Given the description of an element on the screen output the (x, y) to click on. 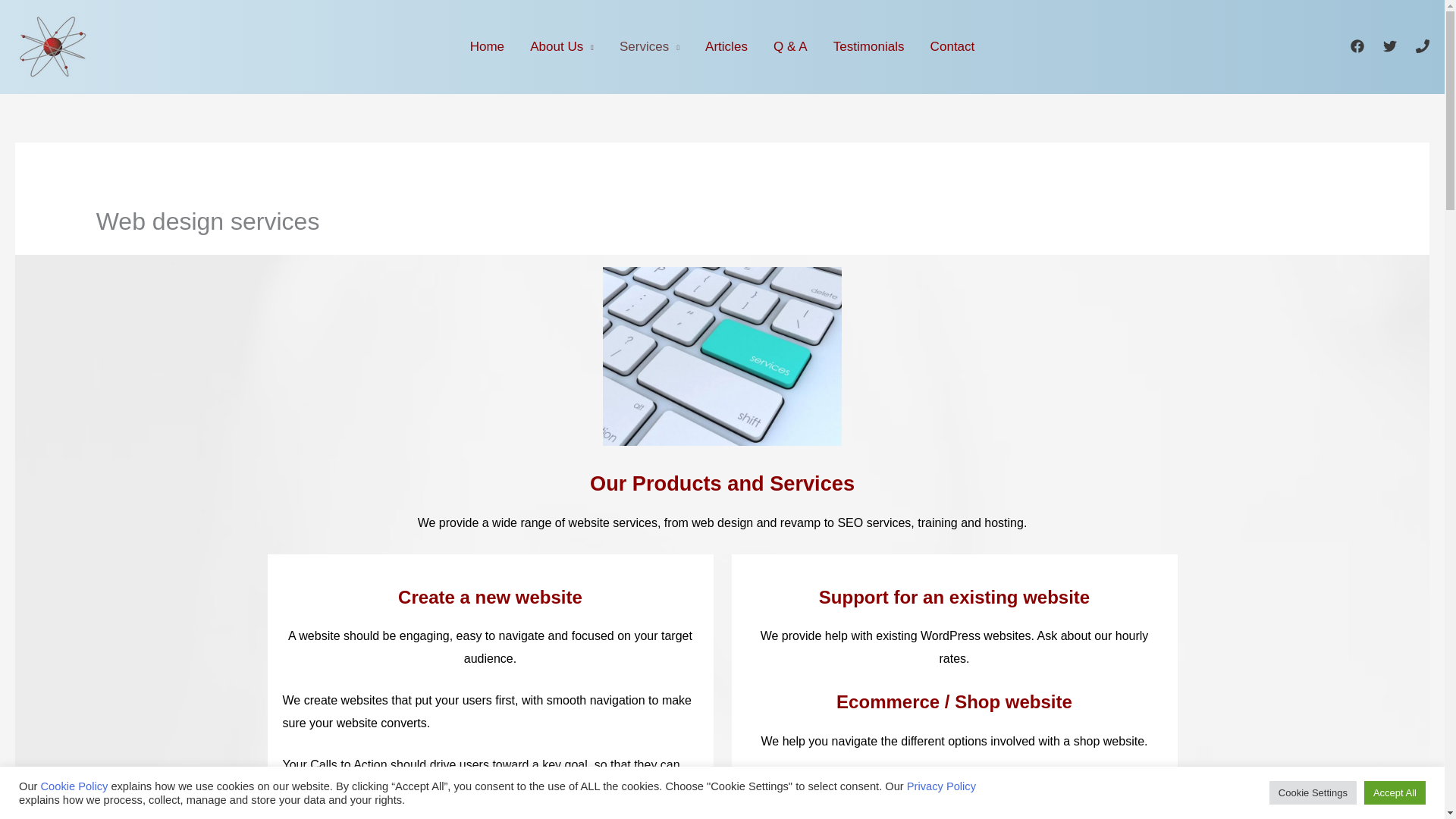
Testimonials (869, 46)
Services (650, 46)
About Us (561, 46)
